Given the description of an element on the screen output the (x, y) to click on. 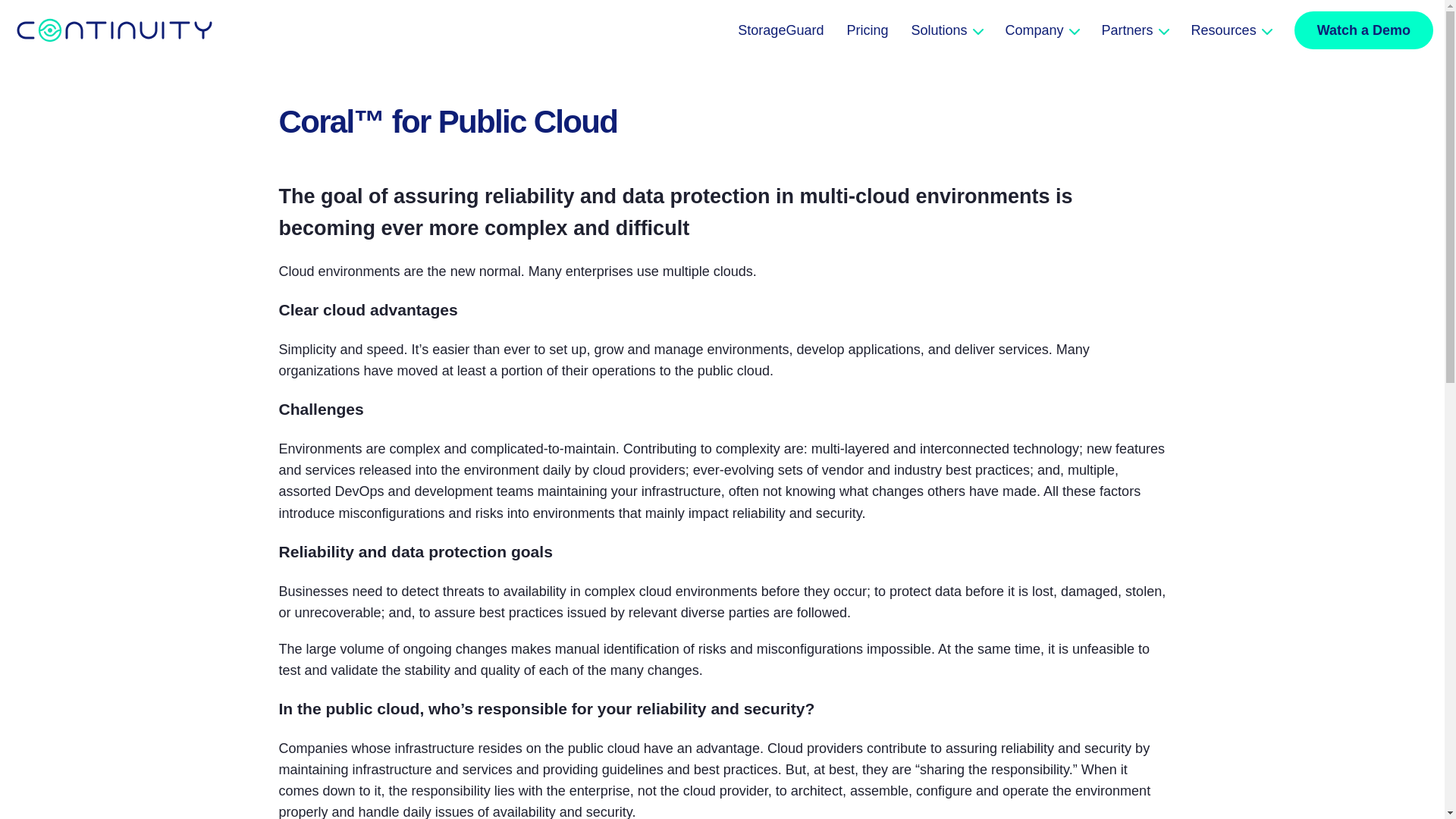
Solutions (946, 30)
Partners (1135, 30)
Resources (1231, 30)
Watch a Demo (1363, 30)
Company (1042, 30)
StorageGuard (781, 30)
